Given the description of an element on the screen output the (x, y) to click on. 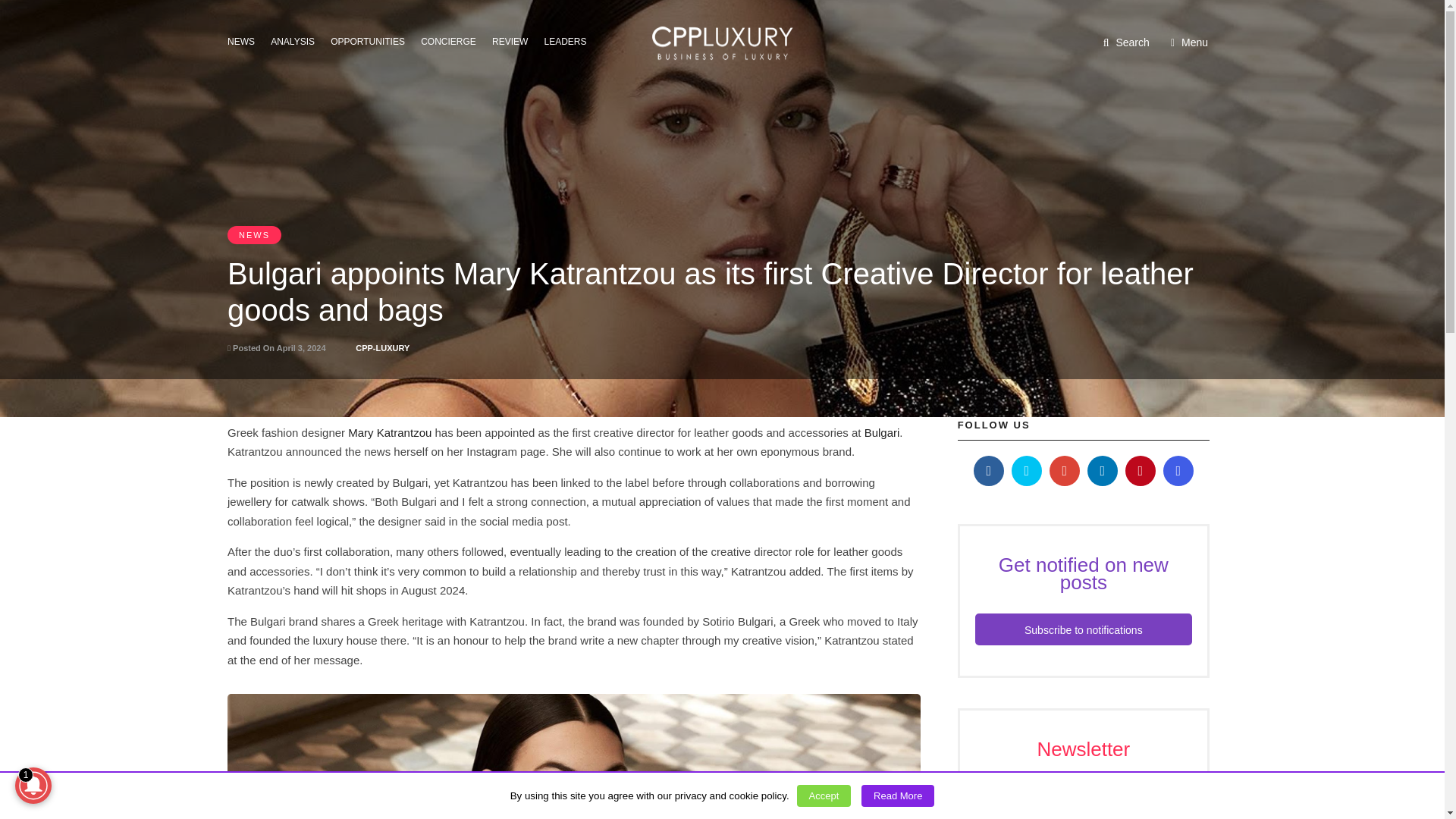
ANALYSIS (296, 40)
Instagram (1178, 470)
NEWS (245, 40)
Linkedin (1102, 470)
Menu (1189, 41)
REVIEW (514, 40)
Pinterest (1140, 470)
Facebook (989, 470)
OPPORTUNITIES (371, 40)
LEADERS (569, 40)
Mary Katrantzou (388, 431)
Bulgari (881, 431)
NEWS (254, 235)
Search (1126, 41)
CONCIERGE (452, 40)
